Given the description of an element on the screen output the (x, y) to click on. 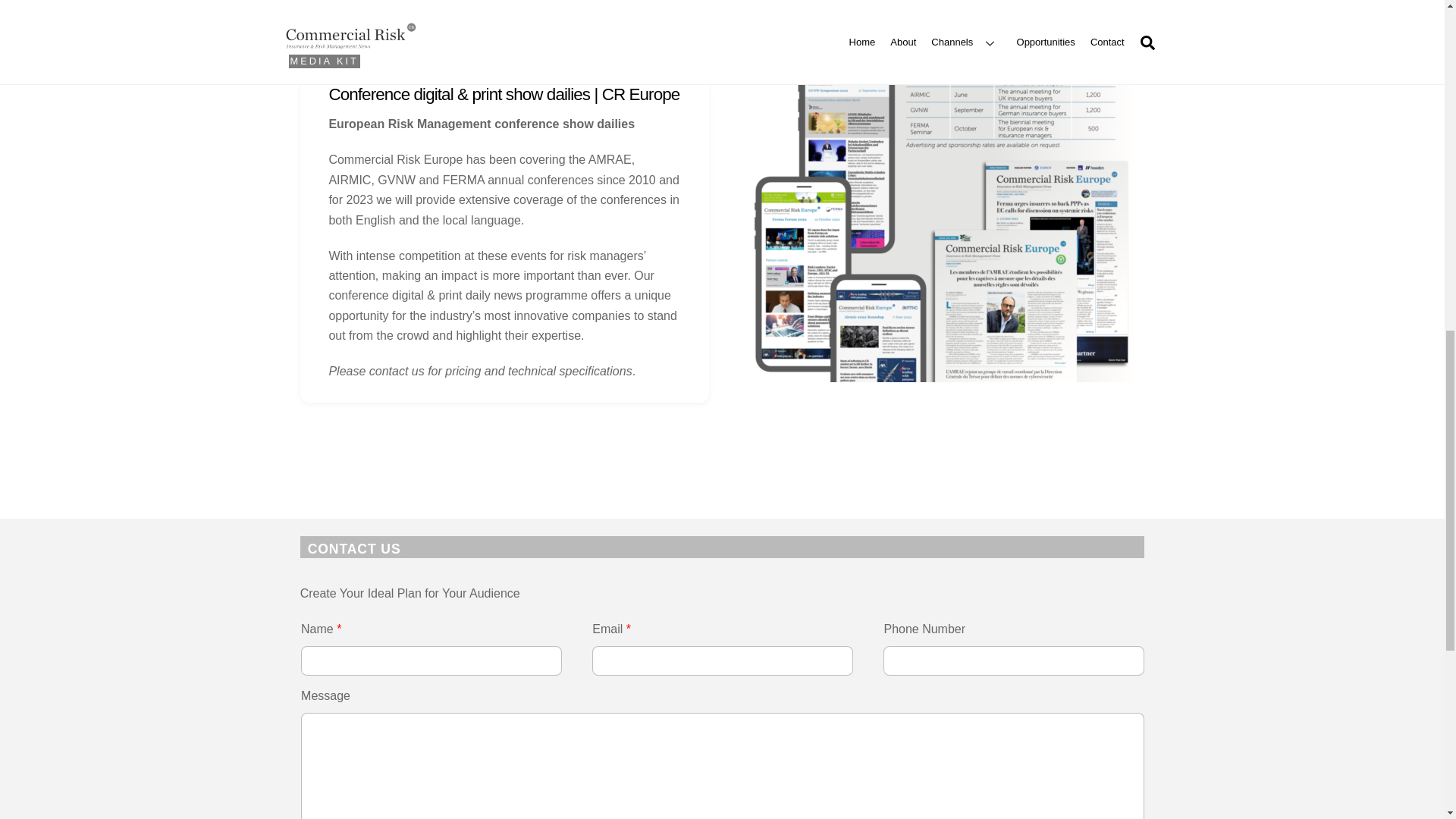
Page 4 (504, 248)
1 (940, 230)
